Given the description of an element on the screen output the (x, y) to click on. 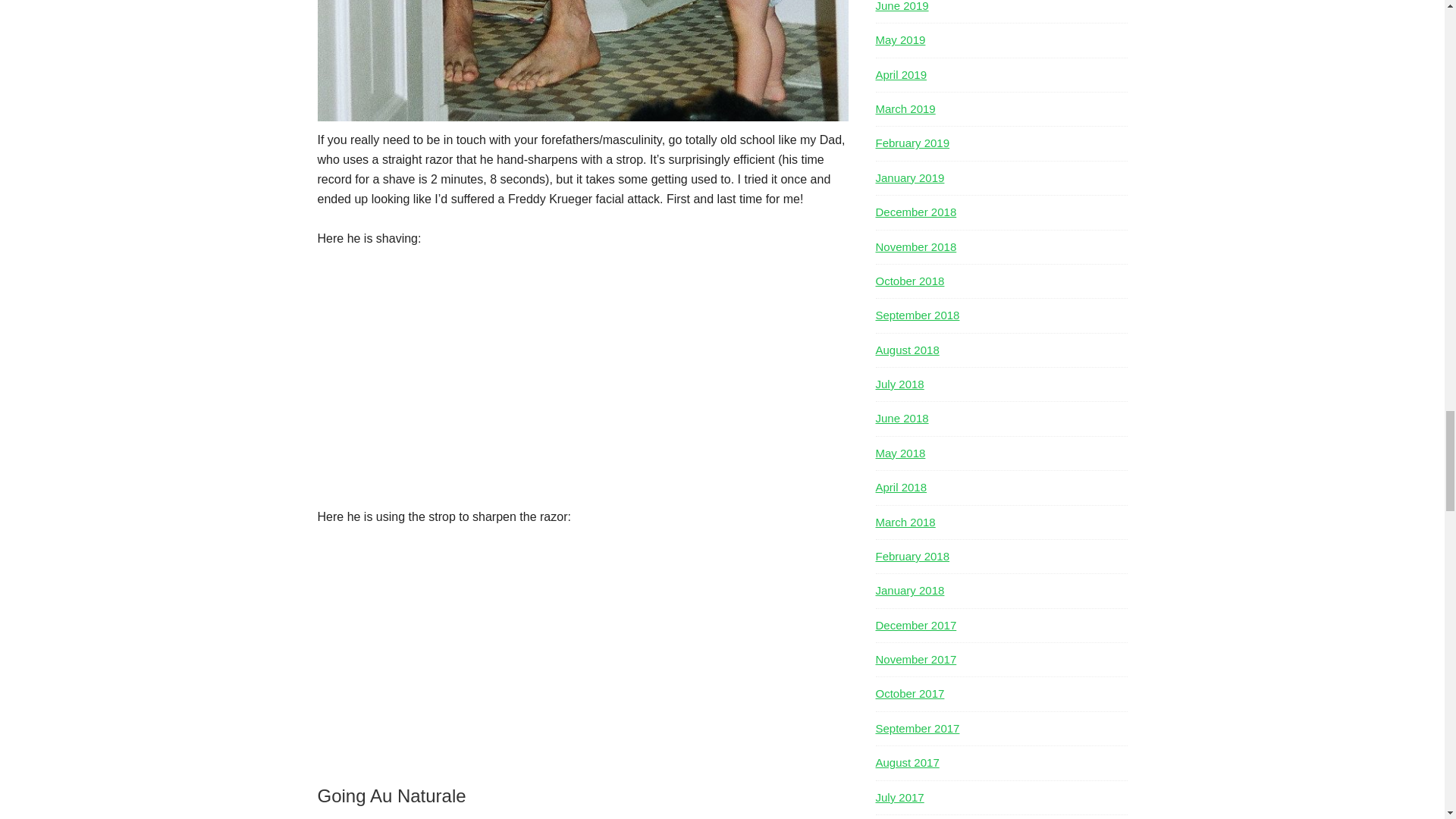
Shaving with straight razor (506, 374)
Strop sharpening of straight razor (506, 653)
